Given the description of an element on the screen output the (x, y) to click on. 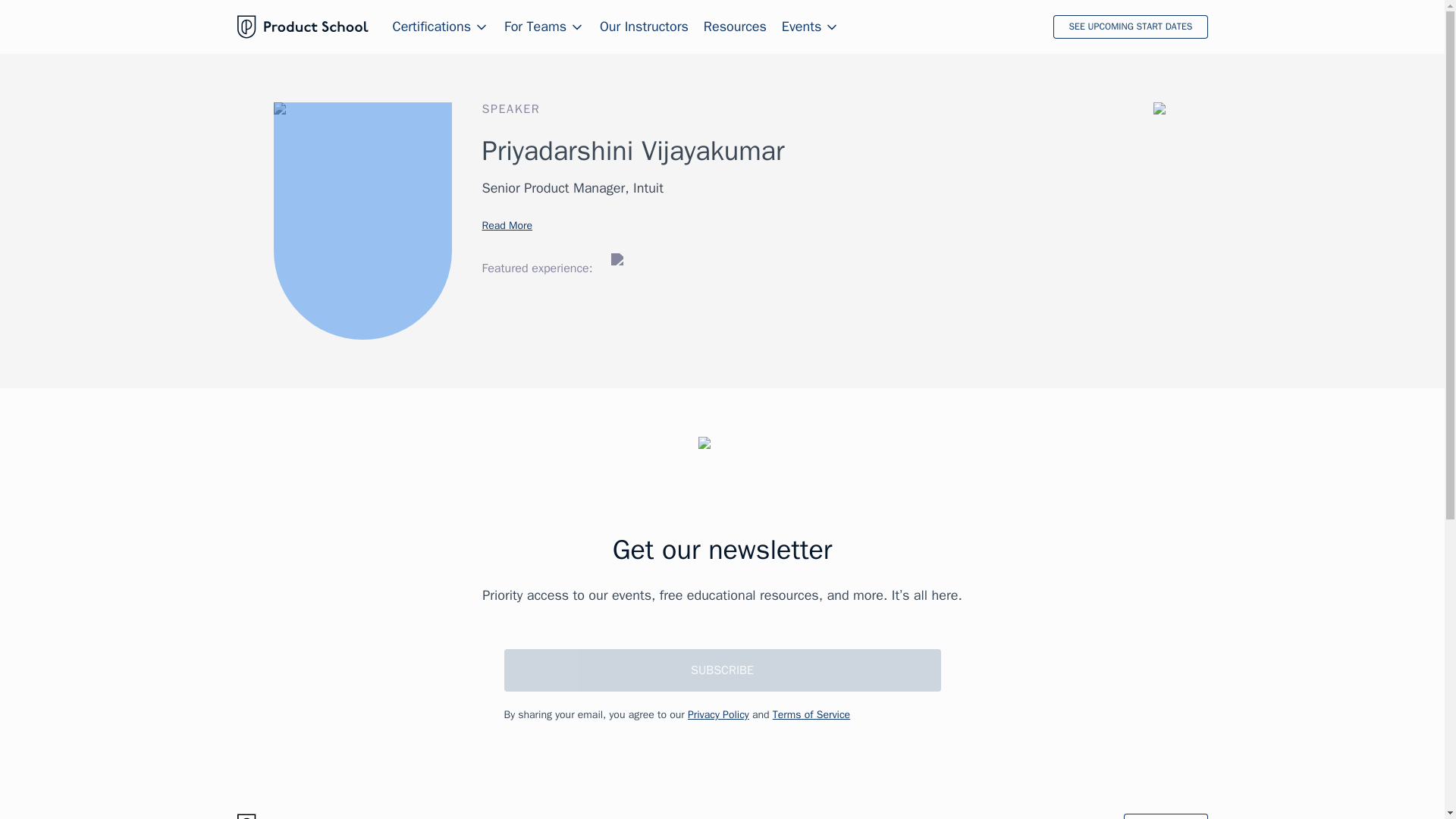
CONTACT US (1165, 816)
SEE UPCOMING START DATES (1129, 26)
Events (810, 27)
Contact Us (1165, 816)
Read More (506, 224)
Our Instructors (643, 27)
Read More (506, 224)
SUBSCRIBE (721, 670)
For Teams (544, 27)
Terms of Service (811, 714)
Privacy Policy (718, 714)
Certifications (441, 27)
Privacy Policy (718, 714)
 See Upcoming Start Dates (1129, 26)
Resources (735, 27)
